Given the description of an element on the screen output the (x, y) to click on. 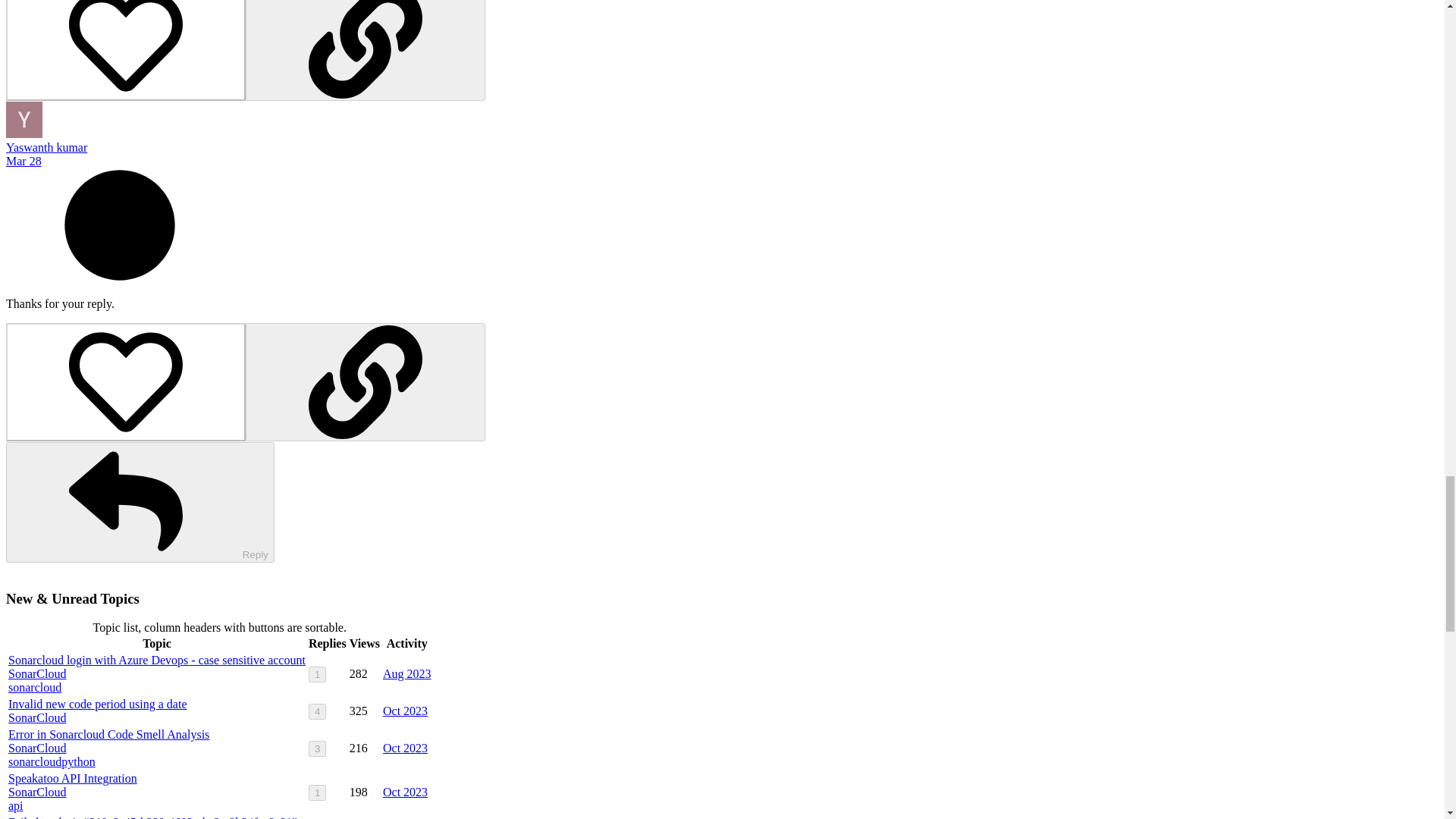
Yaswanth kumar (46, 146)
Mar 28 (23, 160)
